Given the description of an element on the screen output the (x, y) to click on. 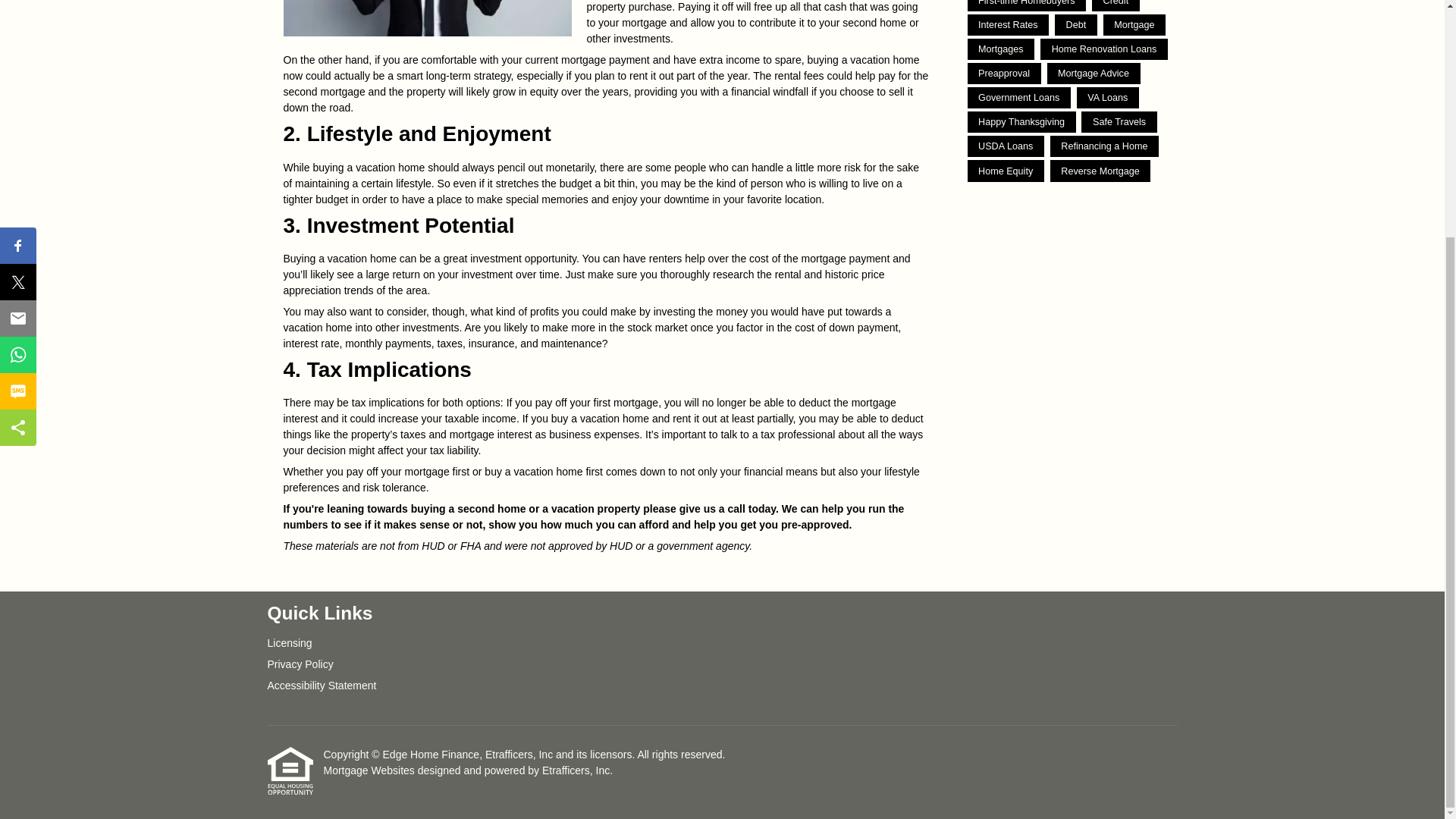
First-time Homebuyers (1027, 5)
Government Loans (1019, 97)
Debt (1075, 25)
Mortgage Advice (1093, 73)
Preapproval (1004, 73)
VA Loans (1107, 97)
Mortgage (1134, 25)
Mortgages (1001, 48)
Interest Rates (1008, 25)
Happy Thanksgiving (1021, 121)
Home Renovation Loans (1104, 48)
Credit (1116, 5)
